Given the description of an element on the screen output the (x, y) to click on. 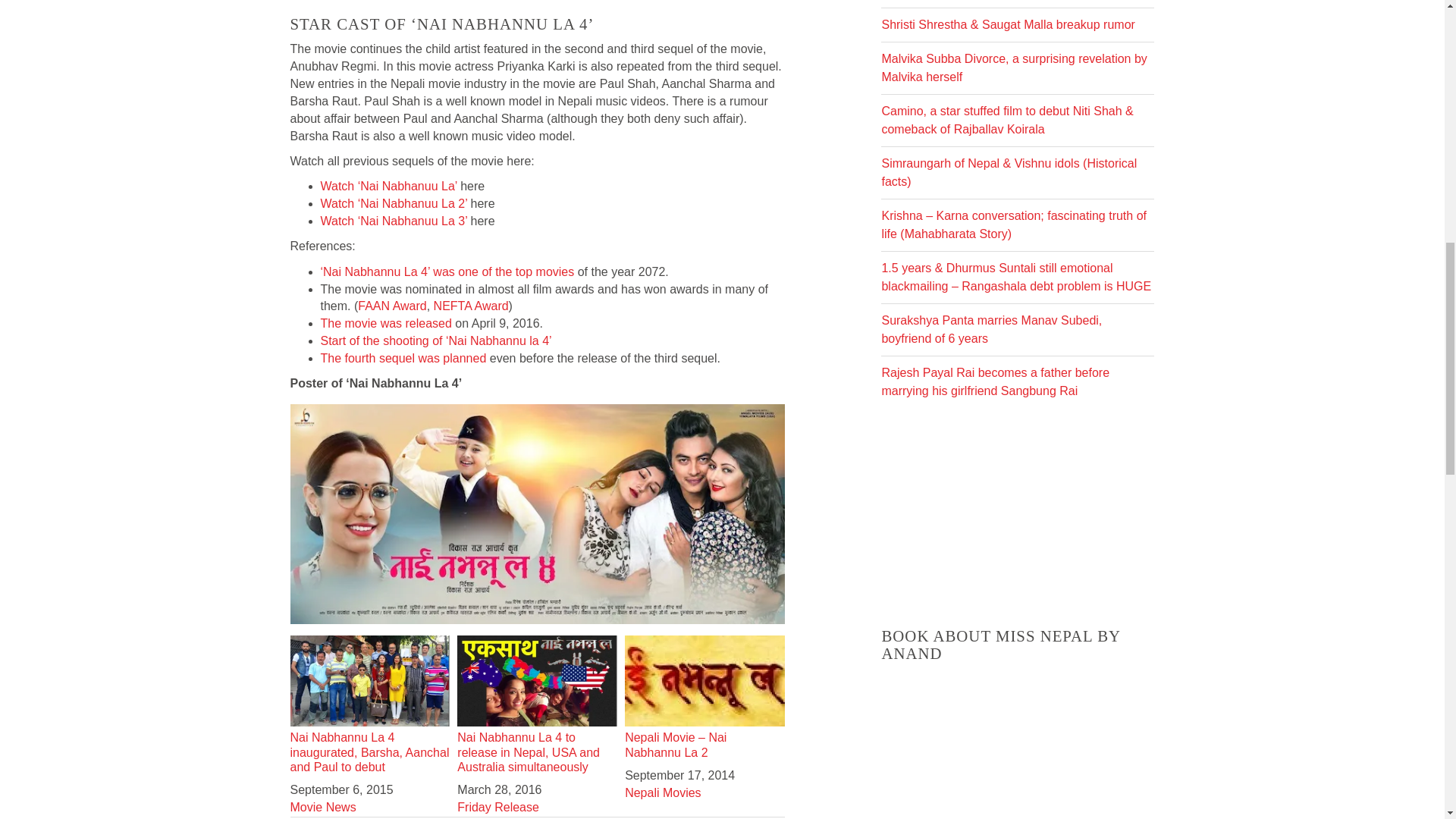
3rd party ad content (1017, 510)
NEFTA Award (470, 305)
Friday Release (497, 807)
Nepali Movies (662, 792)
Movie News (322, 807)
FAAN Award (392, 305)
The fourth sequel was planned (404, 358)
The movie was released (385, 323)
